Given the description of an element on the screen output the (x, y) to click on. 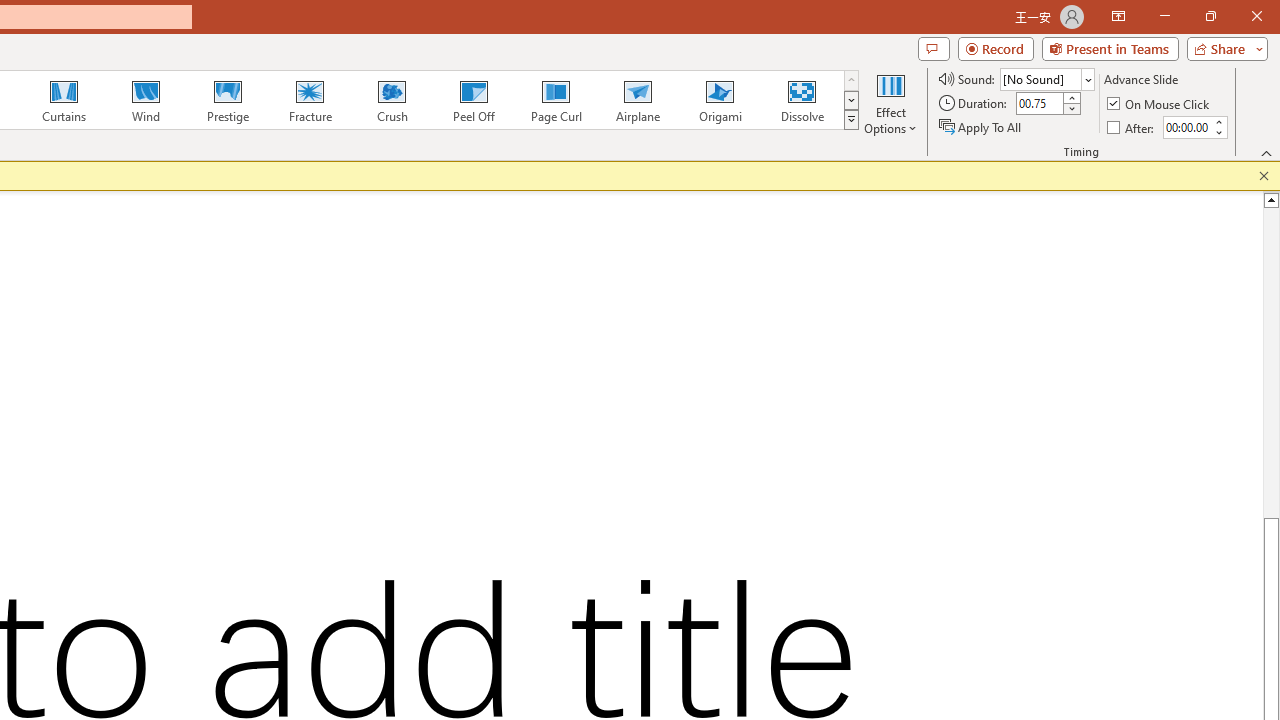
Crush (391, 100)
Wind (145, 100)
